Given the description of an element on the screen output the (x, y) to click on. 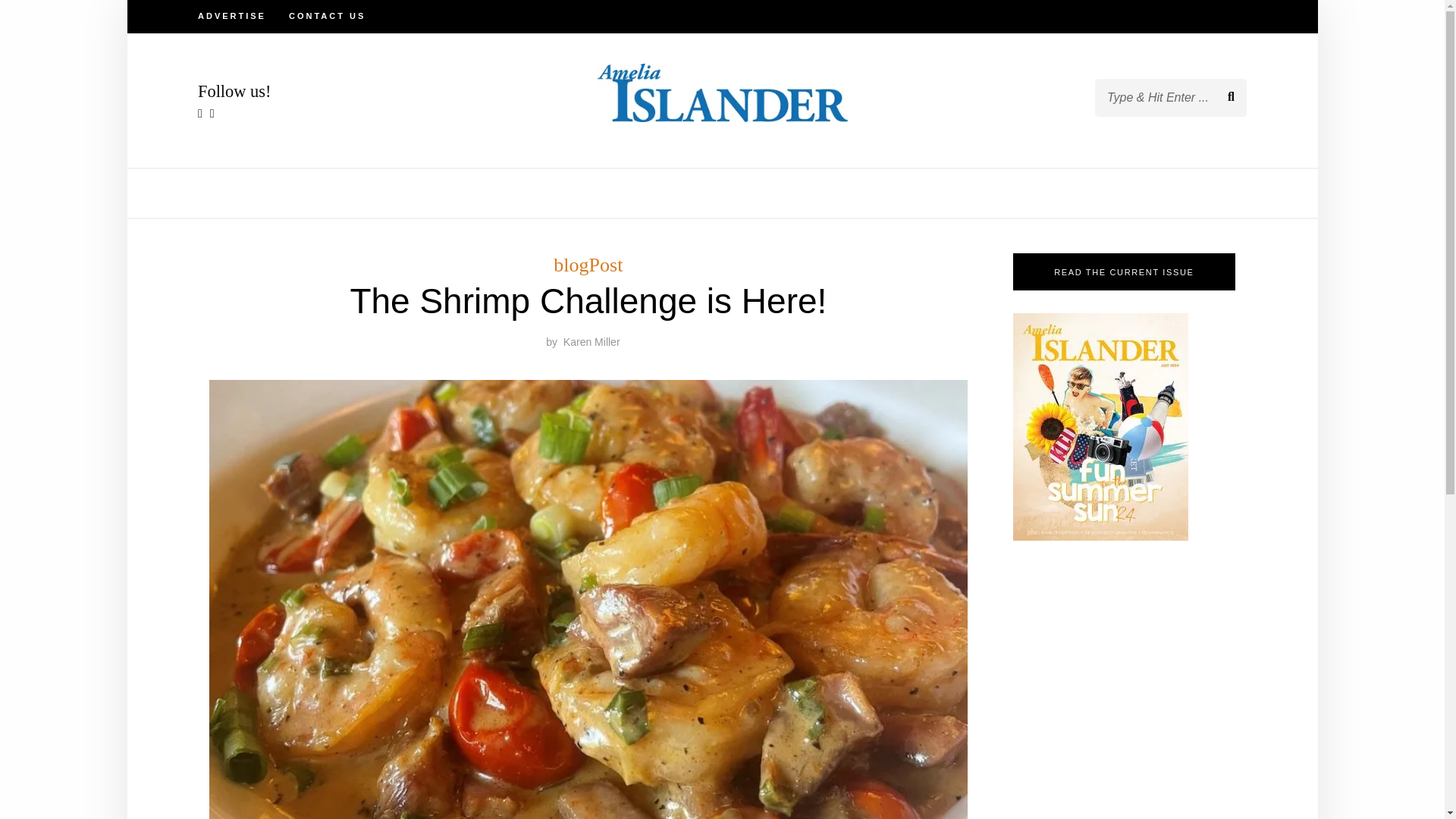
blogPost (588, 264)
PAST ISSUES (964, 192)
RESTAURANT REVIEWS (831, 192)
CONTACT US (326, 16)
Submit (64, 23)
LOCAL EVENTS (693, 192)
ADVERTISE (232, 16)
expand child menu (621, 191)
Karen Miller (591, 341)
HOME (457, 192)
ISLANDER EXTRAS (553, 192)
